Given the description of an element on the screen output the (x, y) to click on. 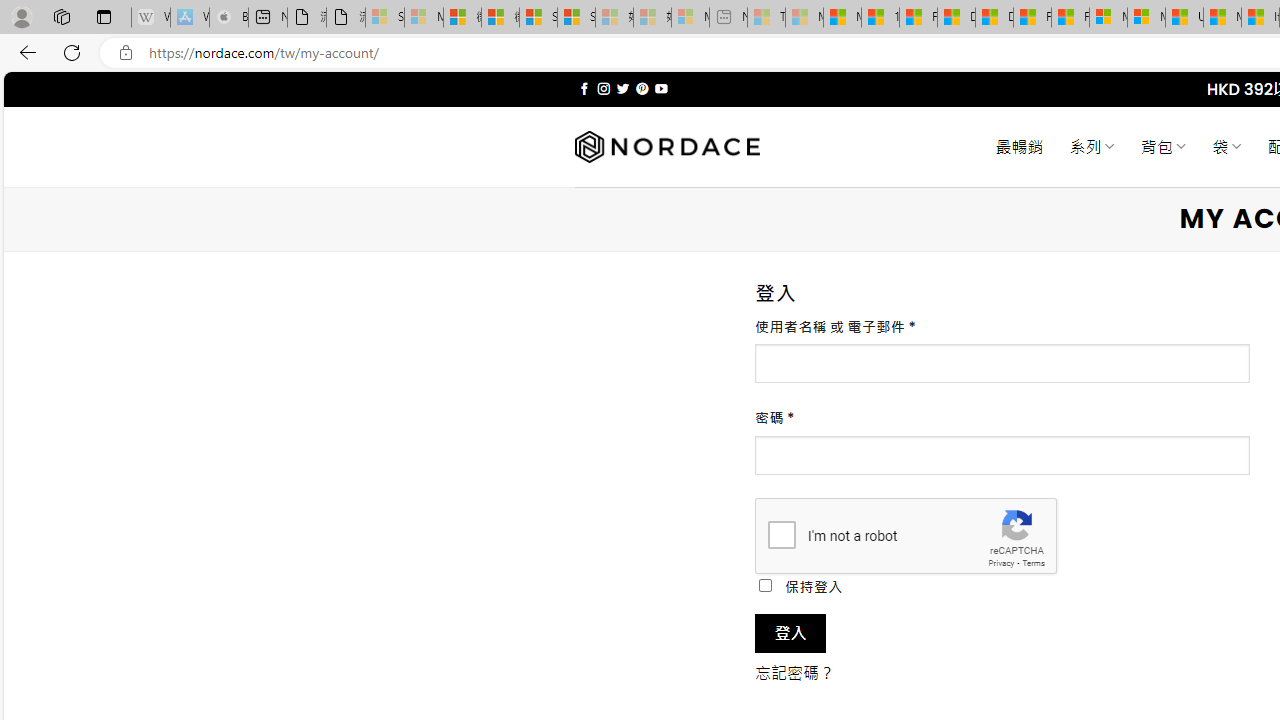
Follow on Instagram (603, 88)
I'm not a robot (782, 533)
Buy iPad - Apple - Sleeping (228, 17)
Marine life - MSN - Sleeping (804, 17)
